Given the description of an element on the screen output the (x, y) to click on. 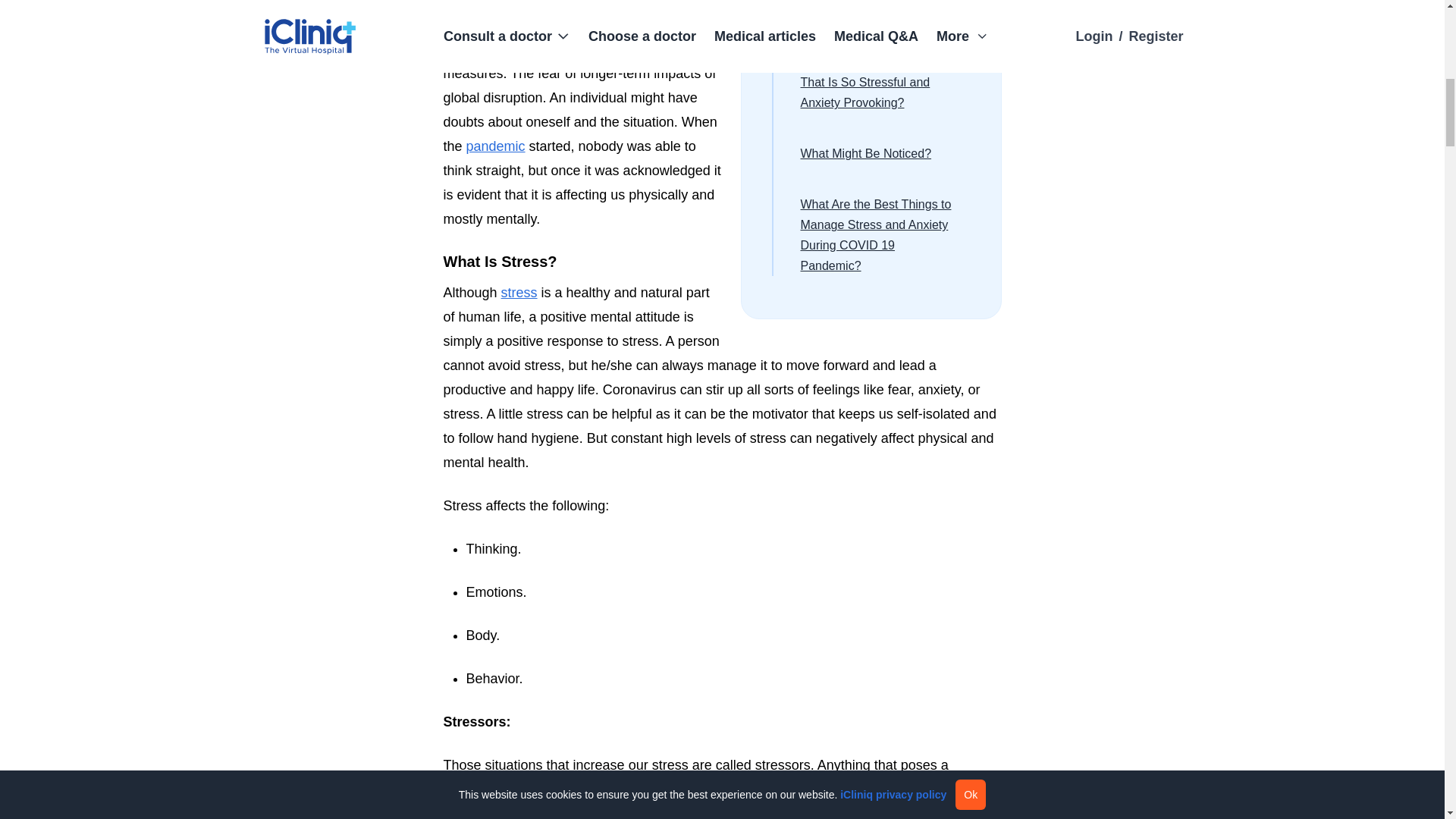
Pandemic (495, 145)
What Is Stress? (721, 261)
